Given the description of an element on the screen output the (x, y) to click on. 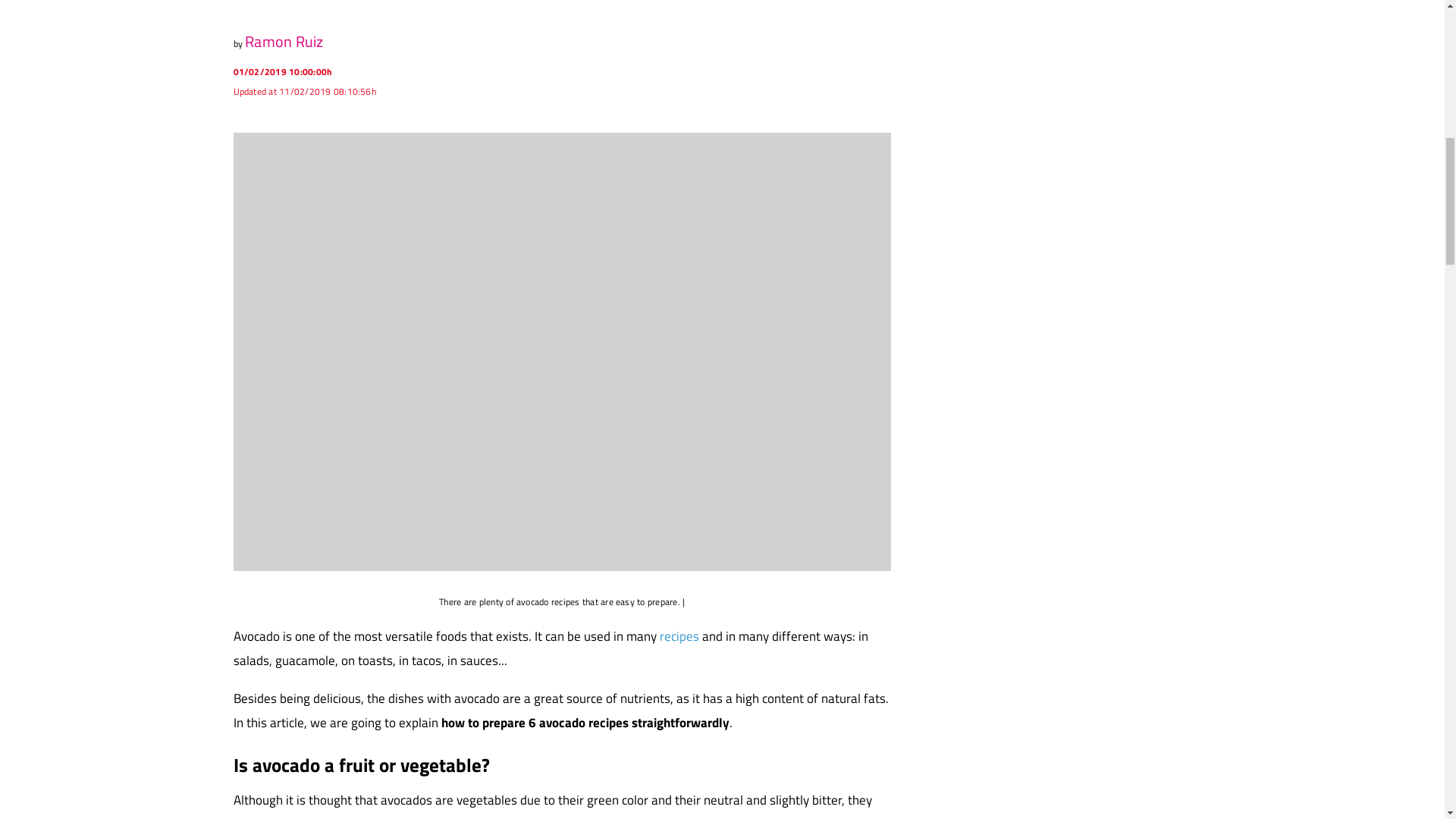
by Ramon Ruiz (561, 39)
recipes (680, 636)
All sorts of recipes (680, 636)
